Given the description of an element on the screen output the (x, y) to click on. 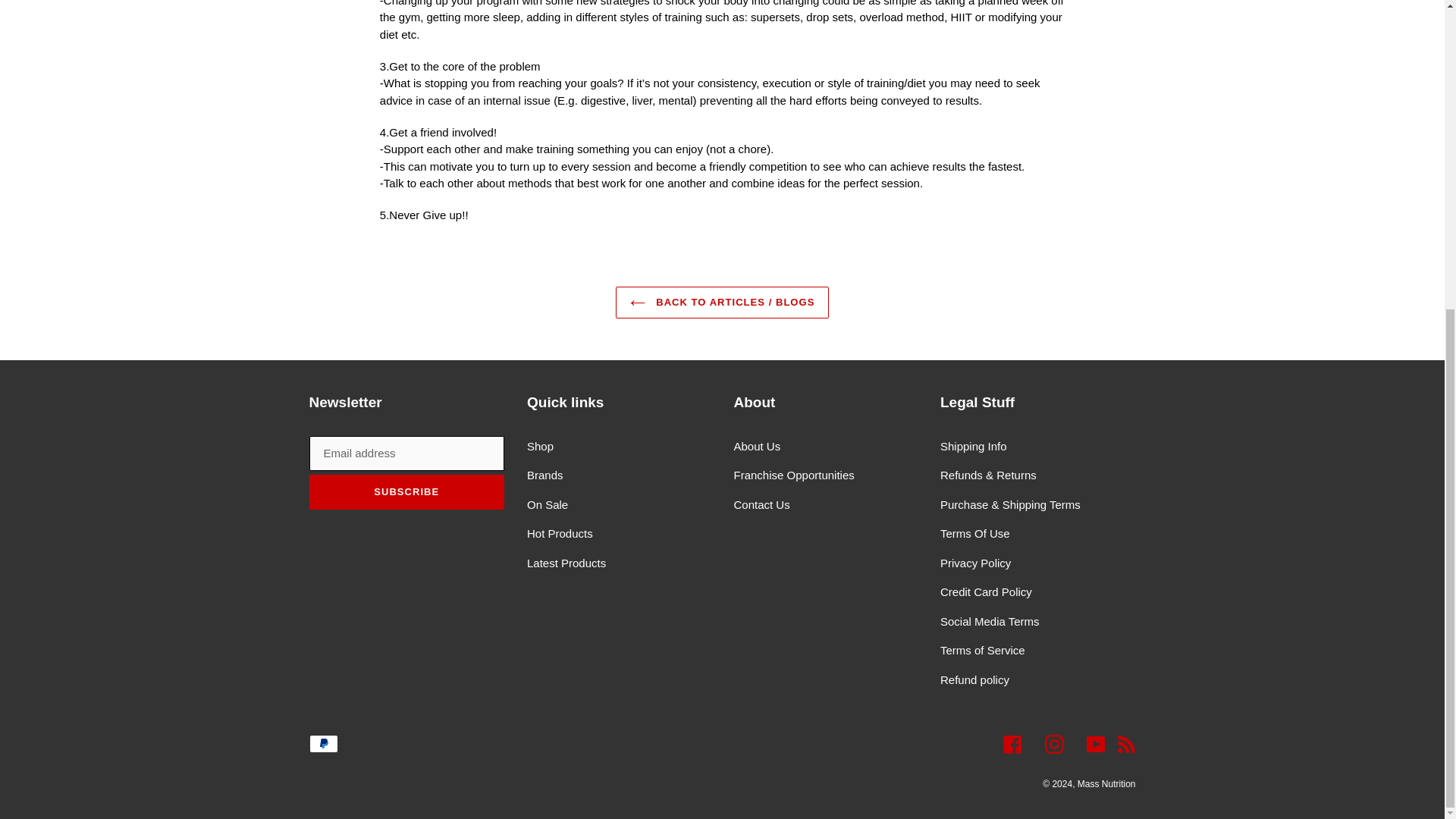
Contact Us (761, 504)
Latest Products (566, 562)
On Sale (547, 504)
SUBSCRIBE (406, 492)
Hot Products (559, 533)
Terms Of Use (975, 533)
Franchise Opportunities (793, 474)
Brands (545, 474)
Shipping Info (973, 445)
Credit Card Policy (986, 591)
Shop (540, 445)
Privacy Policy (975, 562)
About Us (756, 445)
Social Media Terms (989, 621)
